Given the description of an element on the screen output the (x, y) to click on. 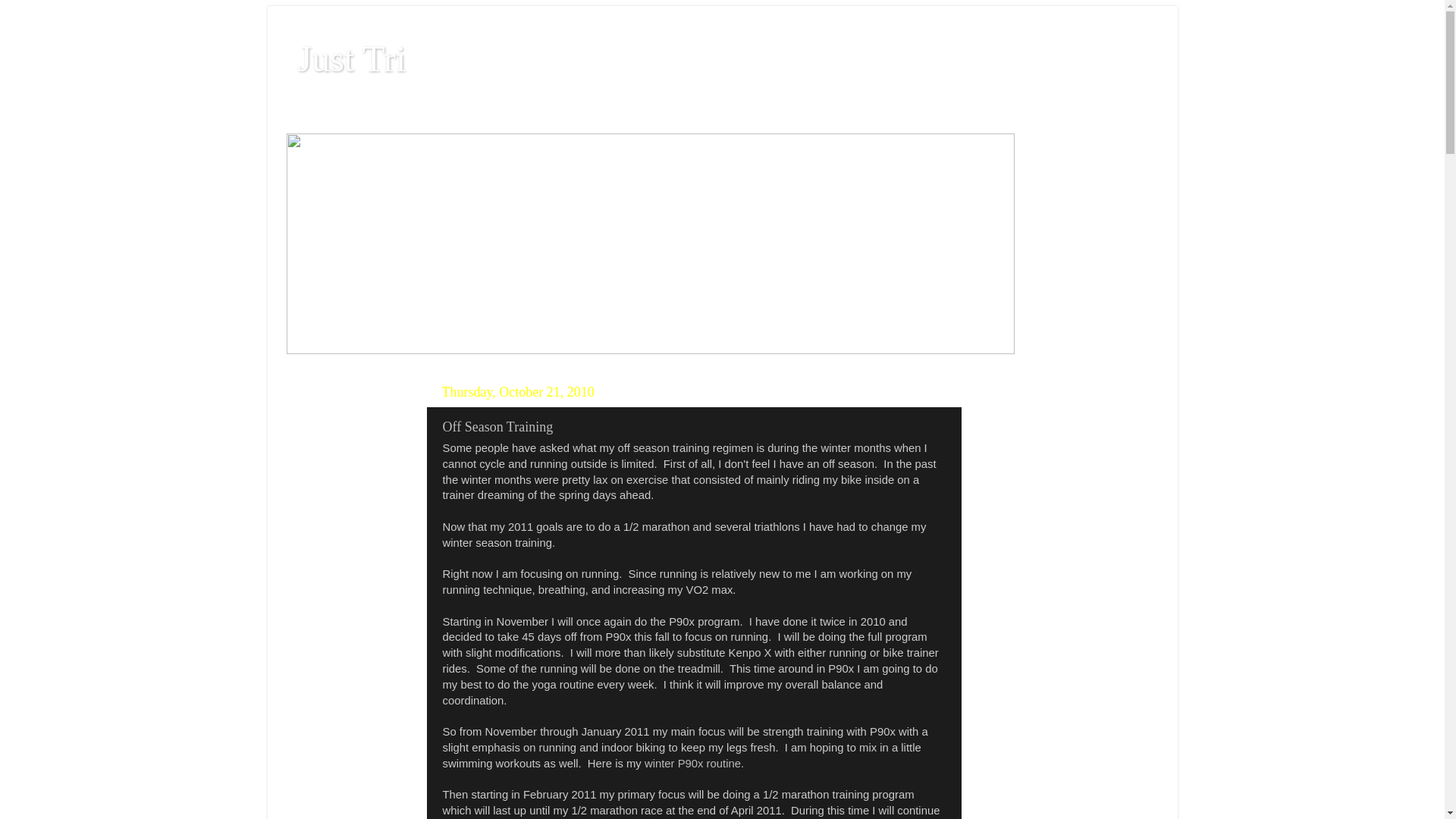
winter P90x routine. Element type: text (693, 763)
Just Tri Element type: text (351, 58)
Off Season Training Element type: text (497, 426)
